Given the description of an element on the screen output the (x, y) to click on. 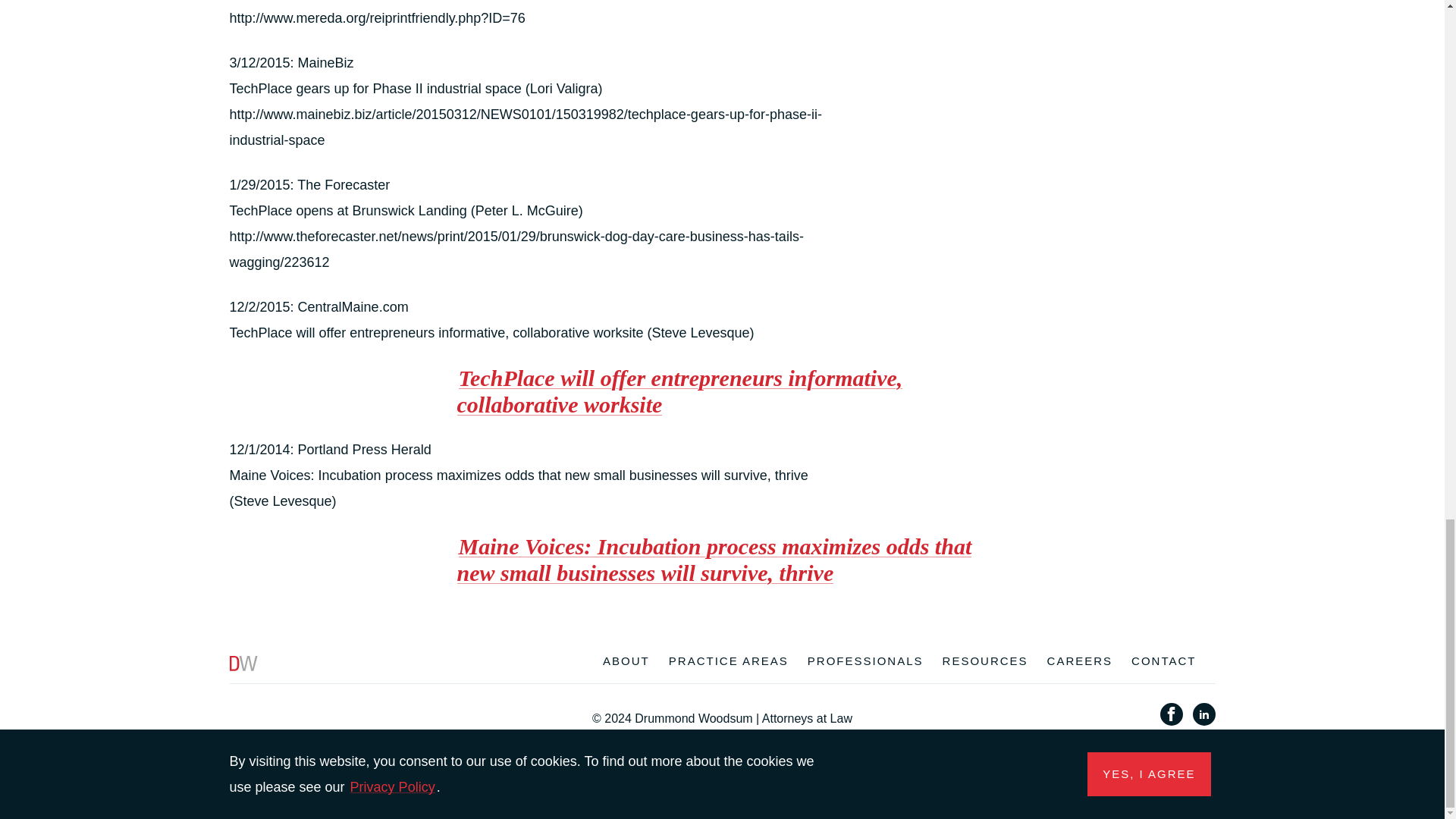
PROFESSIONALS (865, 662)
CAREERS (1079, 662)
RESOURCES (984, 662)
PRACTICE AREAS (728, 662)
CONTACT (1163, 662)
ABOUT (625, 662)
Privacy Statement (628, 734)
